Given the description of an element on the screen output the (x, y) to click on. 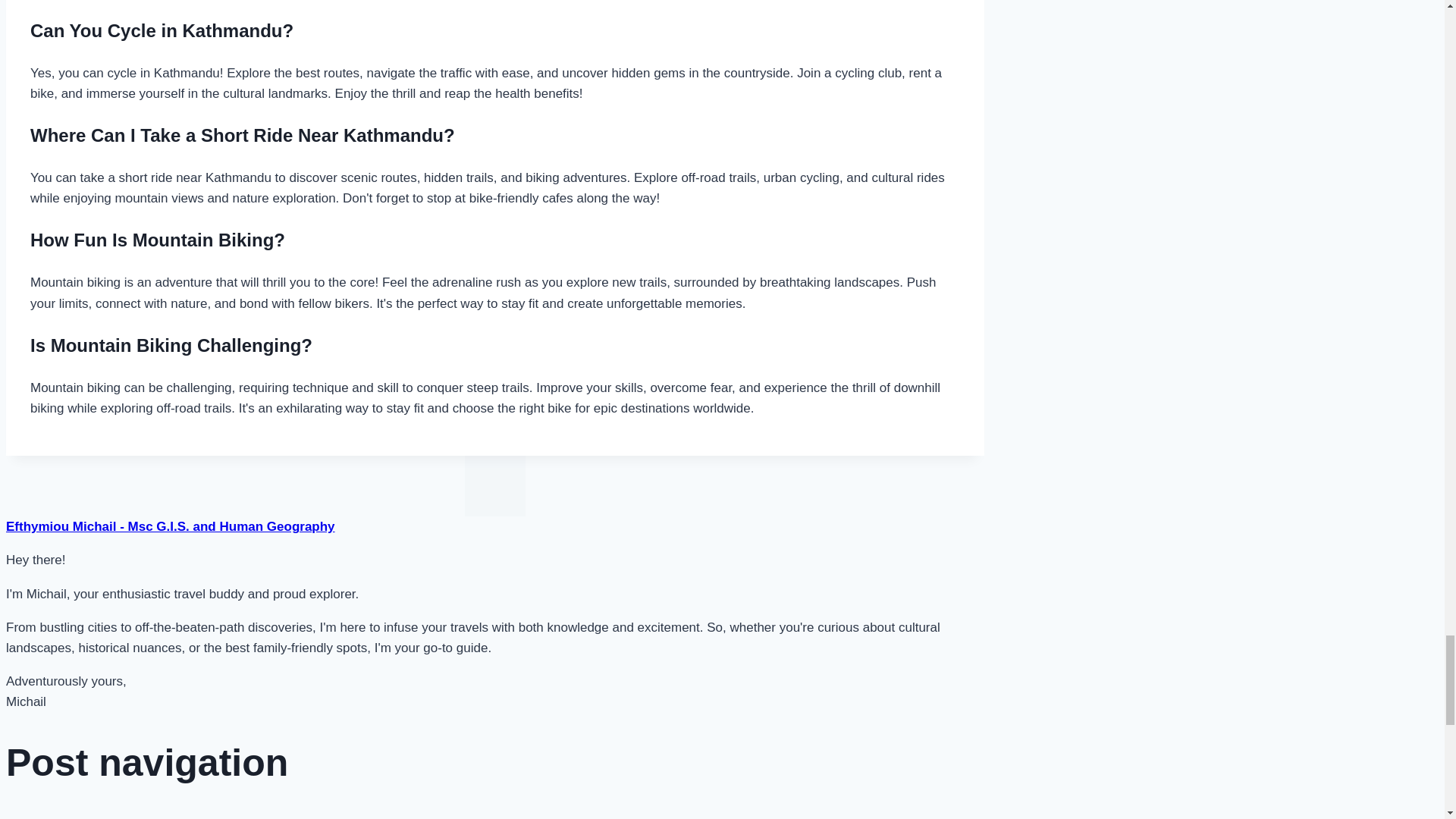
Posts by Efthymiou Michail - Msc G.I.S. and Human Geography (169, 526)
Previous (16, 816)
Efthymiou Michail - Msc G.I.S. and Human Geography (169, 526)
